Given the description of an element on the screen output the (x, y) to click on. 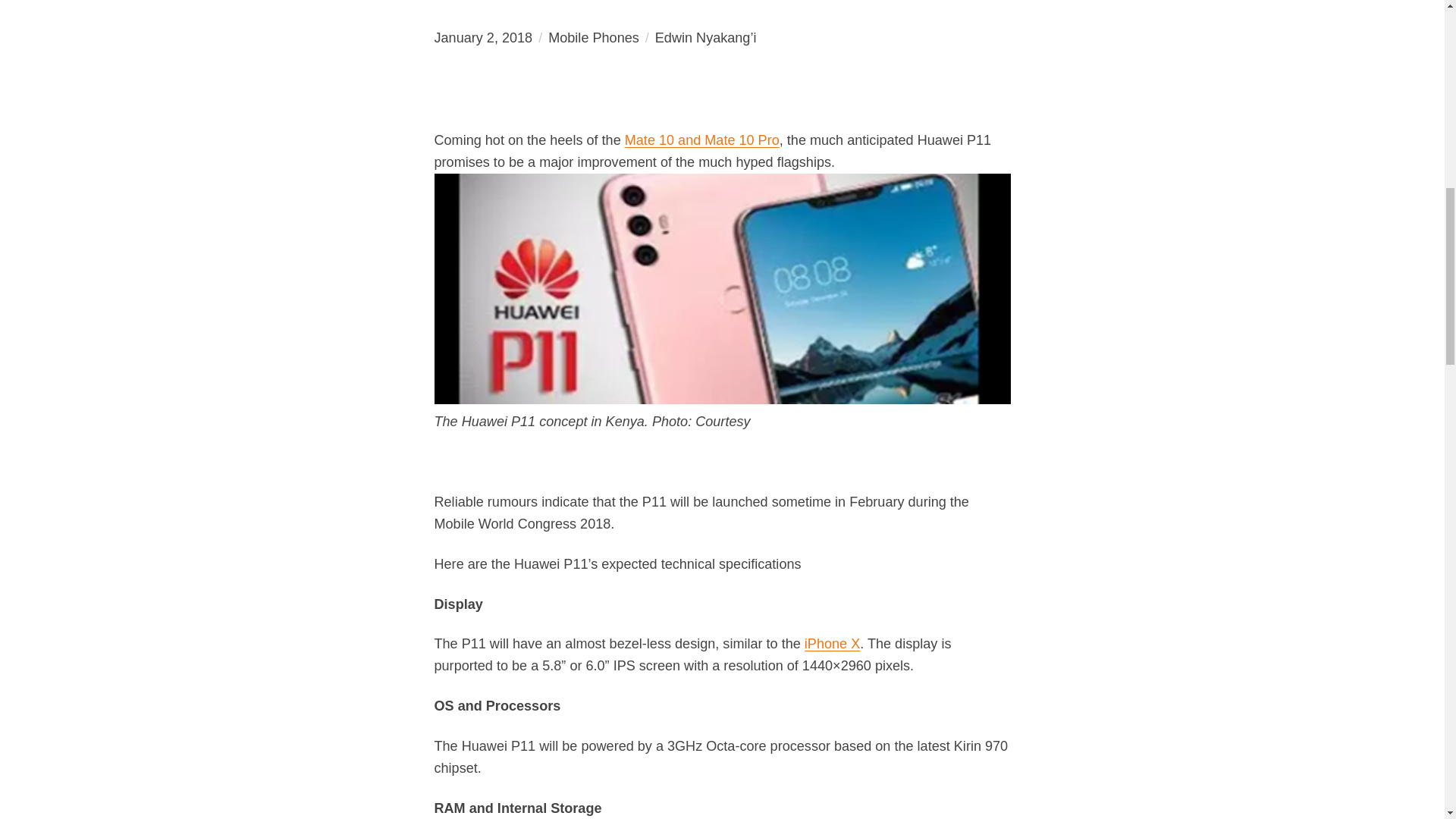
iPhone X (832, 643)
Mate 10 and Mate 10 Pro (701, 140)
Mobile Phones (593, 37)
January 2, 2018 (482, 37)
